Given the description of an element on the screen output the (x, y) to click on. 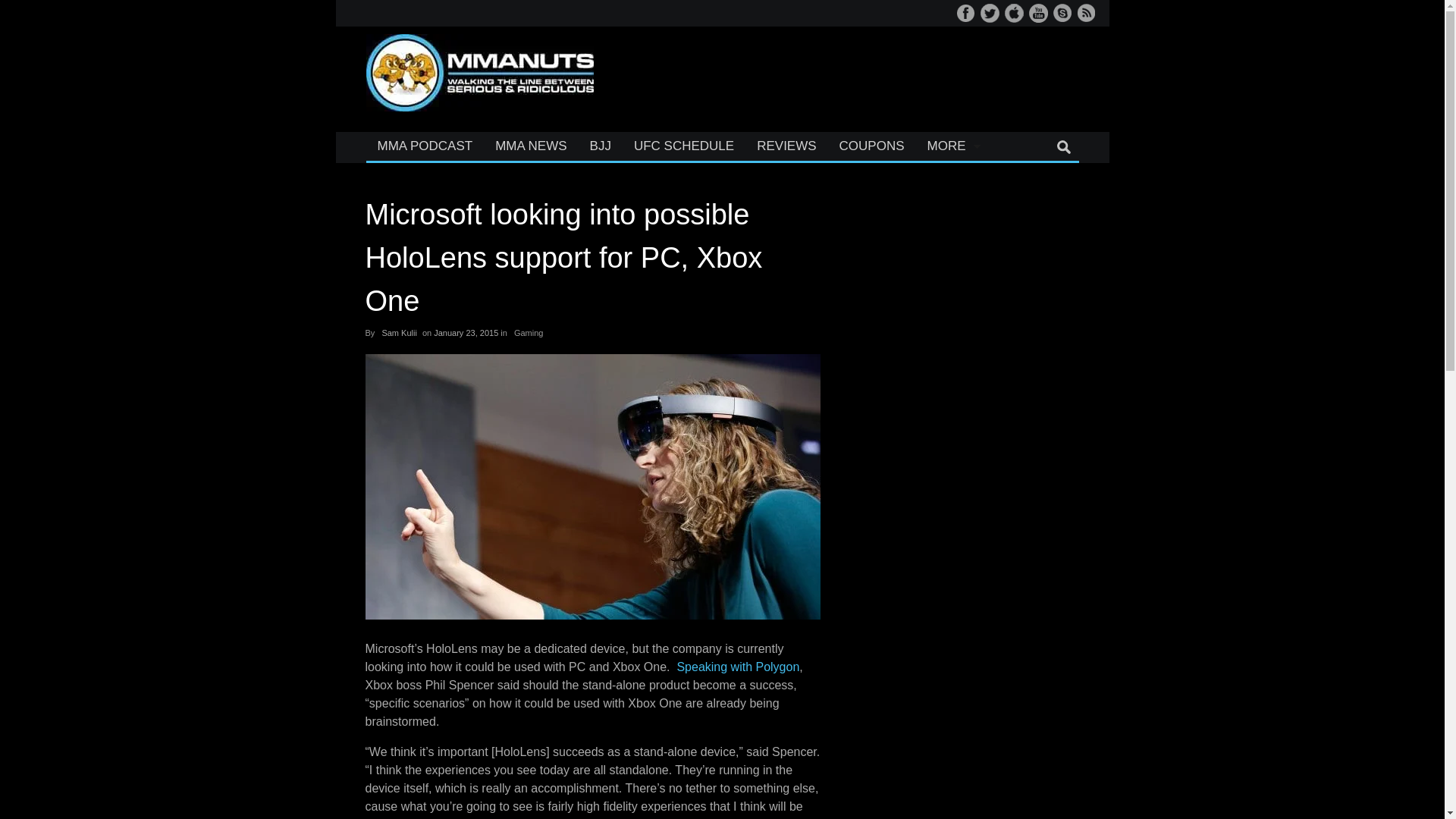
MMA PODCAST (424, 145)
Sam Kulii (398, 332)
By Sam Kulii (398, 332)
Gaming (529, 332)
BJJ (600, 145)
REVIEWS (786, 145)
UFC SCHEDULE (684, 145)
COUPONS (871, 145)
Speaking with Polygon (738, 666)
